Given the description of an element on the screen output the (x, y) to click on. 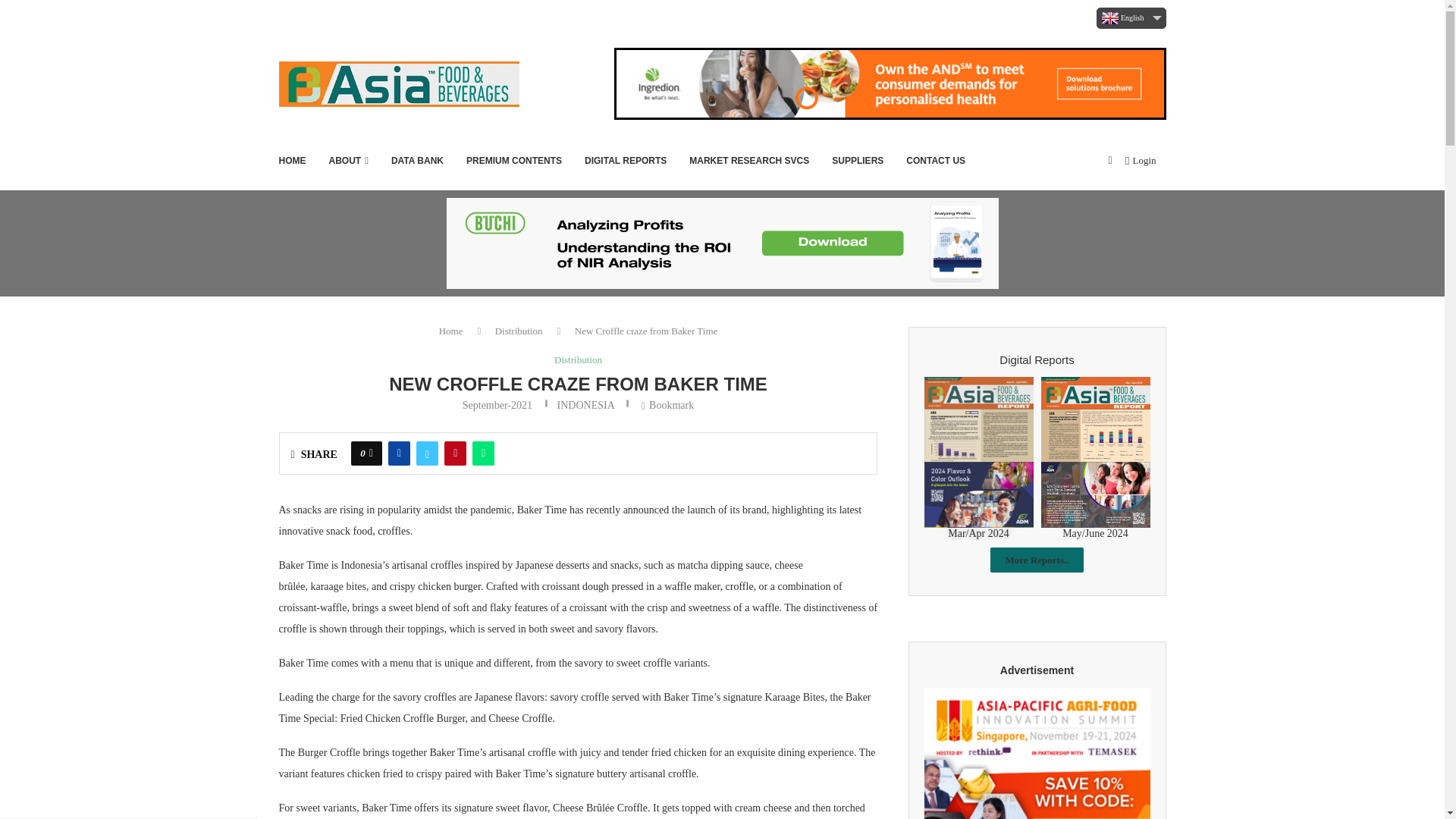
CONTACT US (935, 160)
DATA BANK (417, 160)
MARKET RESEARCH SVCS (748, 160)
PREMIUM CONTENTS (513, 160)
Bookmark (1110, 160)
DIGITAL REPORTS (625, 160)
ABOUT (348, 160)
Like (370, 453)
HOME (292, 160)
Login (1140, 160)
SUPPLIERS (857, 160)
